Given the description of an element on the screen output the (x, y) to click on. 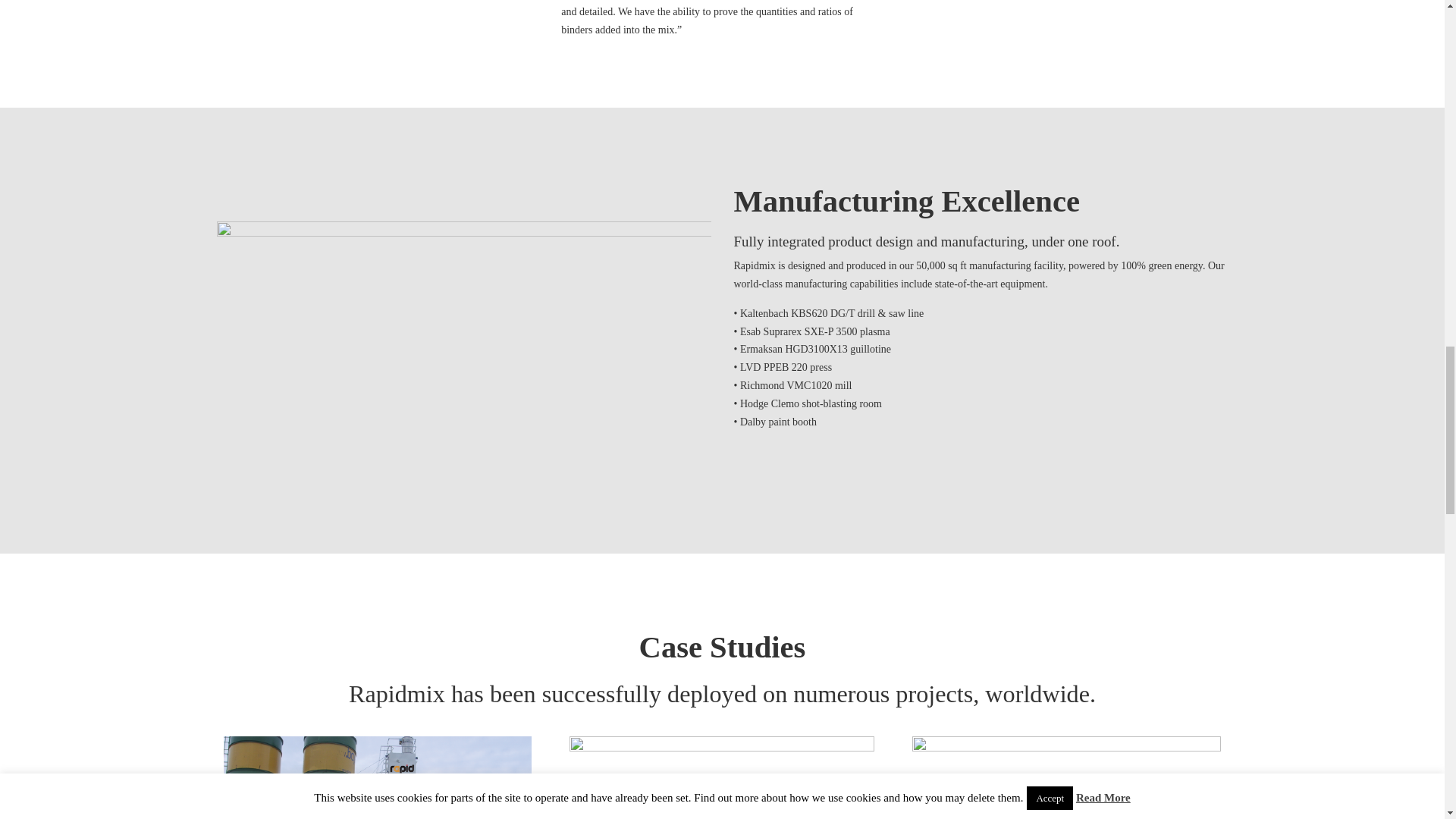
21Asset 2 (377, 777)
21Asset 1 (463, 354)
